Given the description of an element on the screen output the (x, y) to click on. 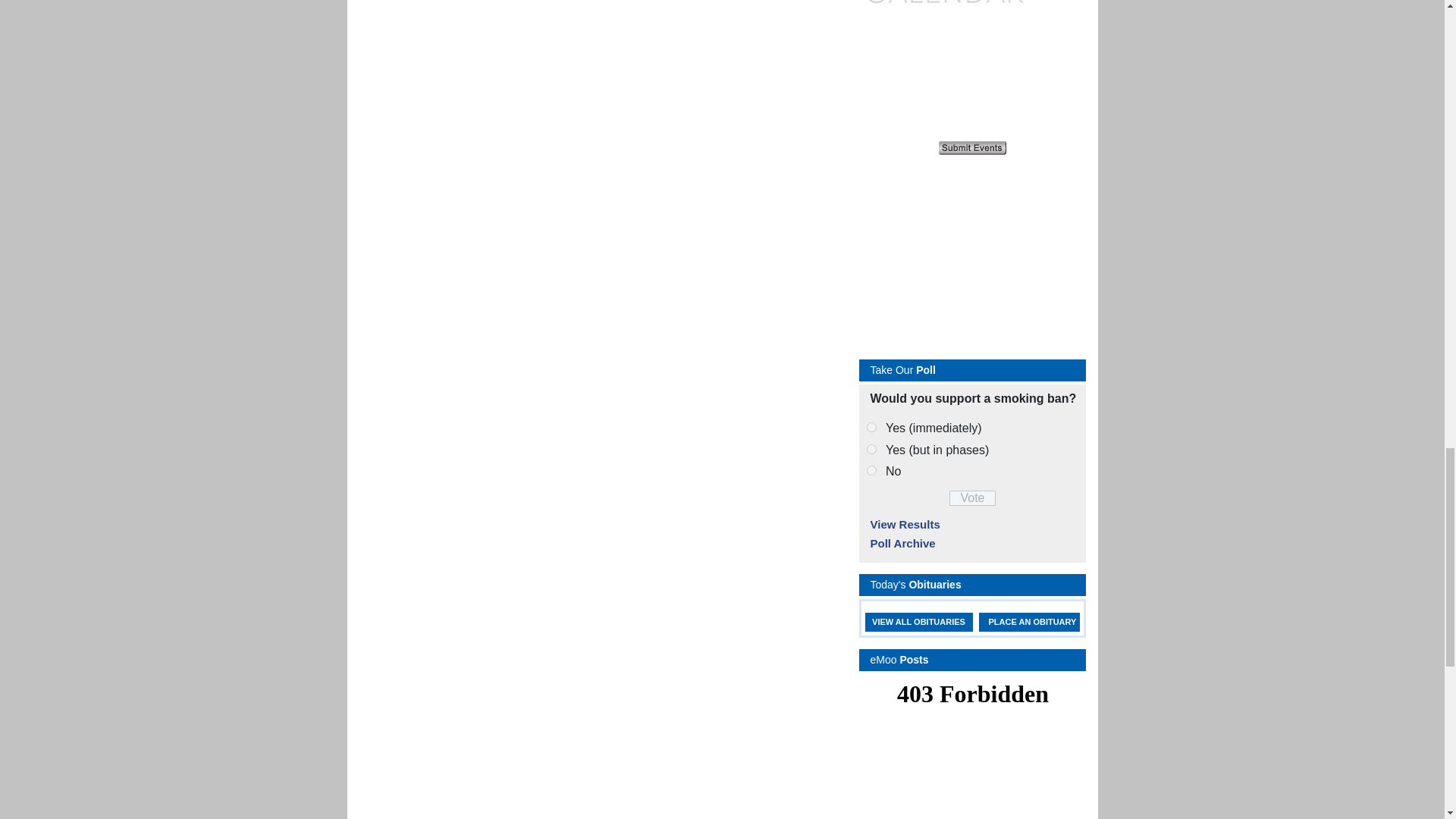
354 (871, 427)
355 (871, 449)
356 (871, 470)
   Vote    (972, 498)
